Given the description of an element on the screen output the (x, y) to click on. 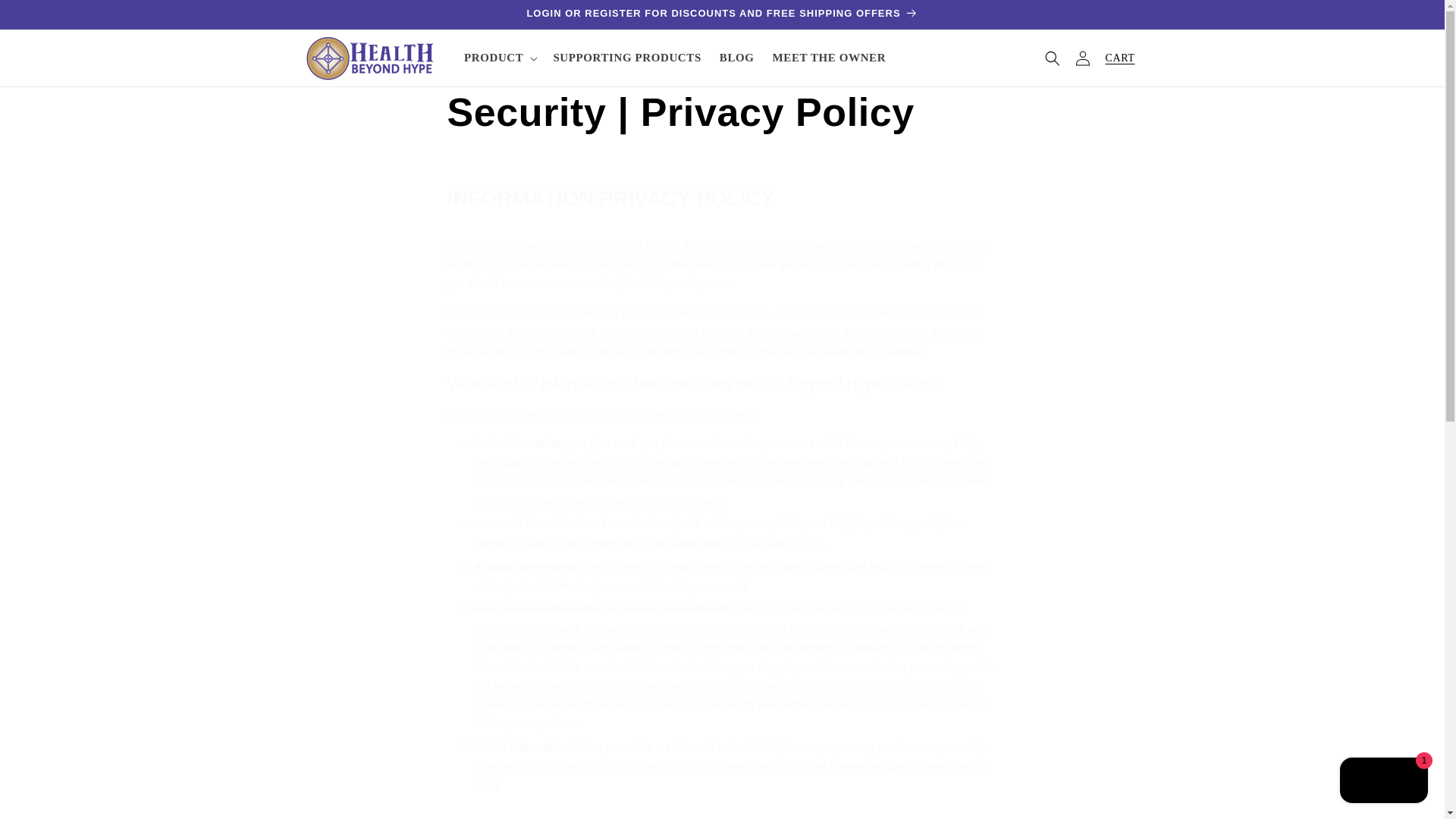
LOGIN OR REGISTER FOR DISCOUNTS AND FREE SHIPPING OFFERS (721, 14)
SUPPORTING PRODUCTS (626, 58)
MEET THE OWNER (828, 58)
Shopify online store chat (1383, 781)
Log in (1082, 57)
BLOG (736, 58)
CART (1119, 57)
Skip to content (45, 17)
